Given the description of an element on the screen output the (x, y) to click on. 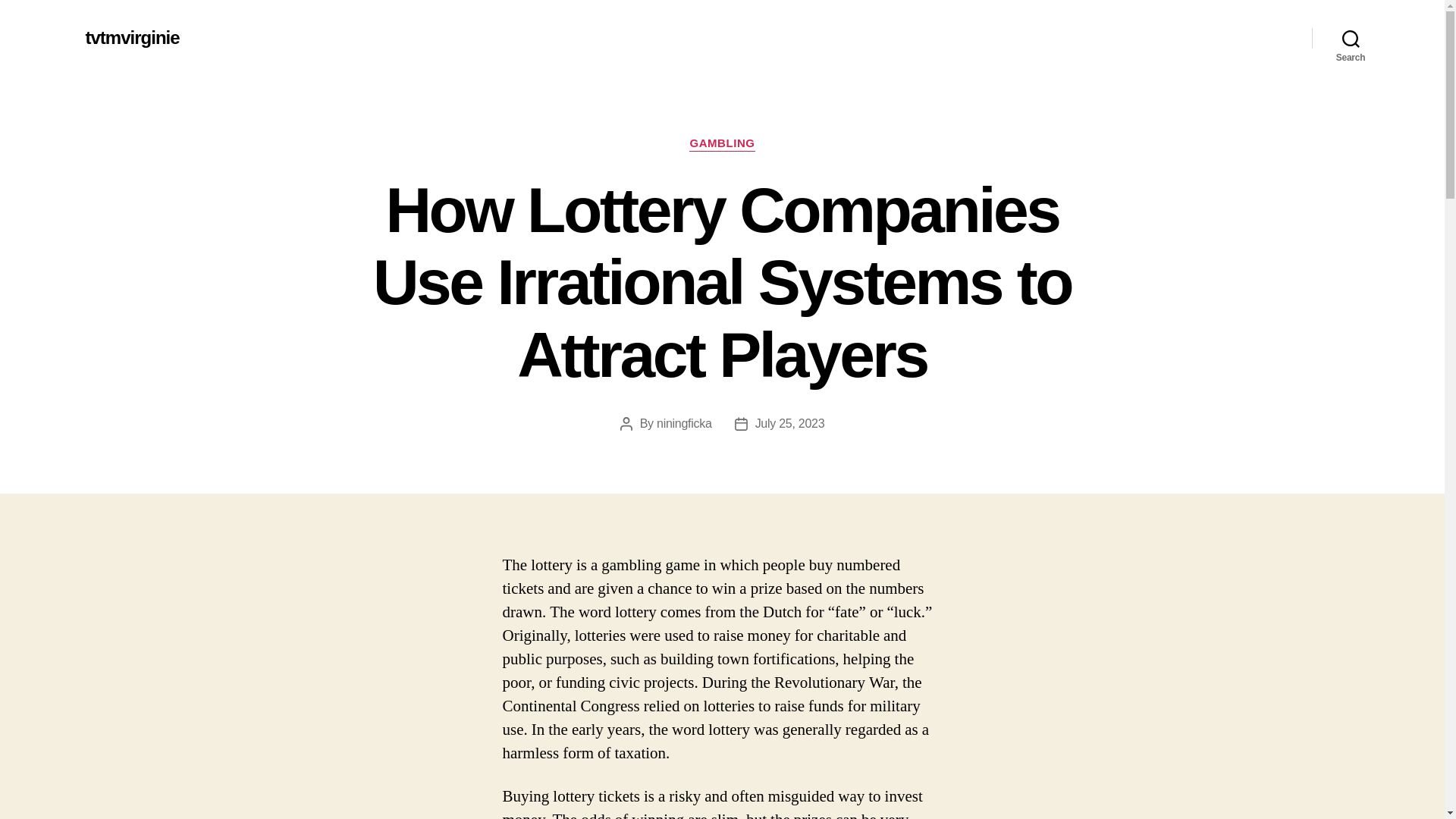
GAMBLING (721, 143)
niningficka (683, 422)
tvtmvirginie (131, 37)
Search (1350, 37)
July 25, 2023 (790, 422)
